Given the description of an element on the screen output the (x, y) to click on. 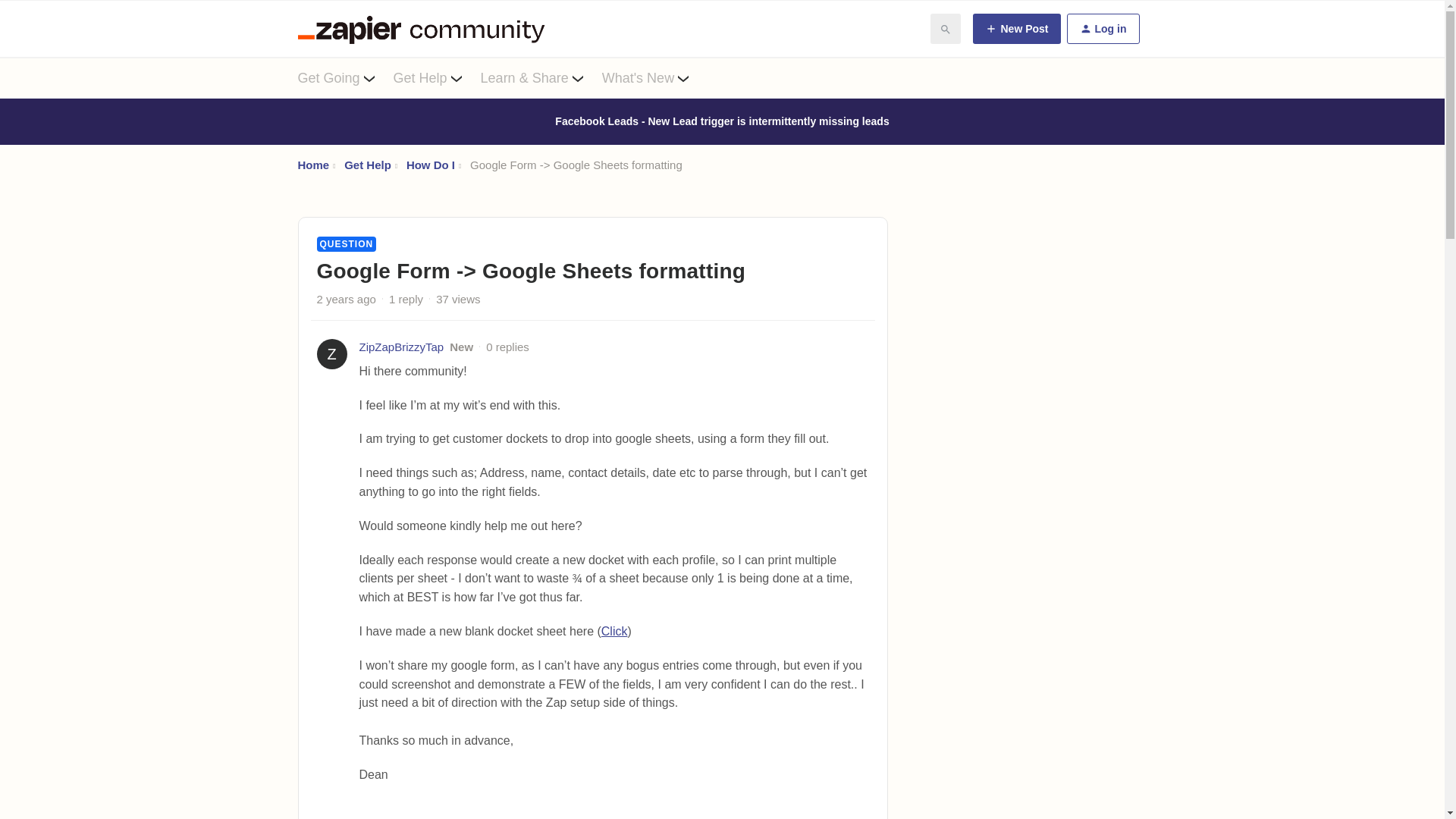
ZipZapBrizzyTap (401, 347)
New Post (1015, 28)
Home (313, 165)
Get Help (436, 77)
Get Going (345, 77)
Log in (1101, 28)
New Post (1015, 28)
What's New (654, 77)
